Given the description of an element on the screen output the (x, y) to click on. 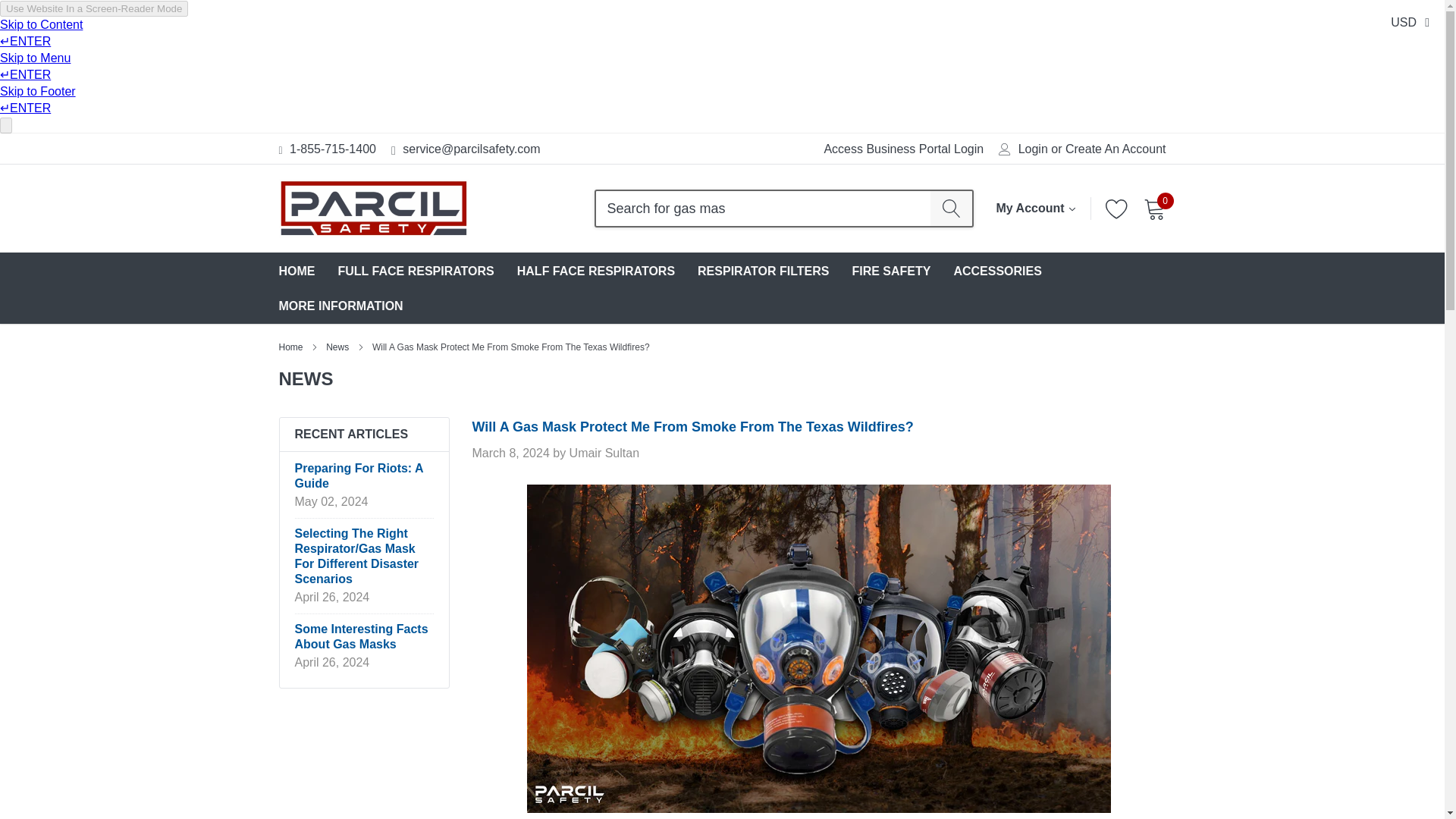
search (951, 208)
ACCESSORIES (997, 270)
FIRE SAFETY (890, 270)
Access Business Portal Login (904, 148)
1-855-715-1400 (332, 148)
Login (1032, 149)
HALF FACE RESPIRATORS (595, 270)
HOME (297, 270)
My Account (1035, 208)
FULL FACE RESPIRATORS (416, 270)
0 (1154, 208)
Create An Account (1115, 149)
RESPIRATOR FILTERS (762, 270)
